Given the description of an element on the screen output the (x, y) to click on. 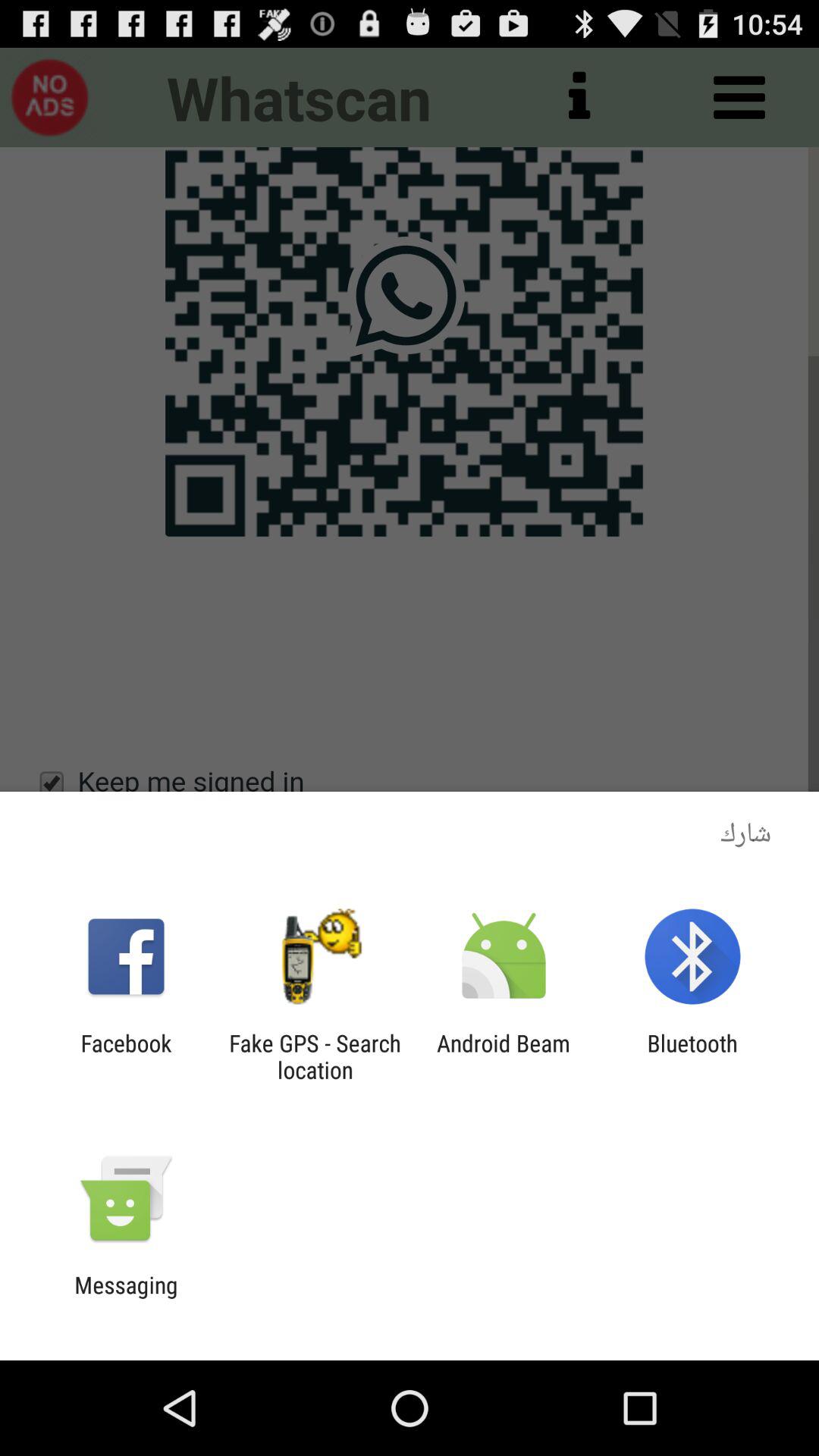
tap item to the right of android beam (692, 1056)
